Given the description of an element on the screen output the (x, y) to click on. 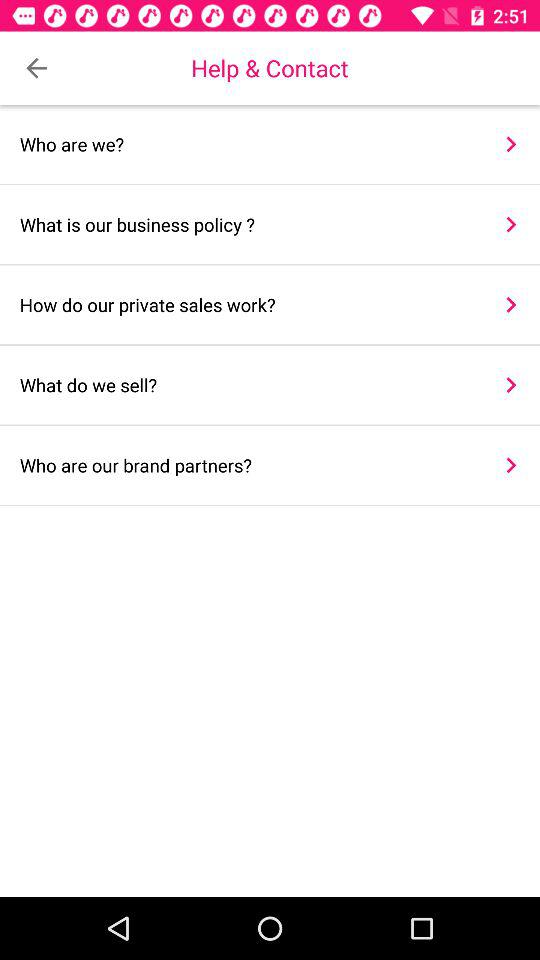
choose item above who are our (510, 384)
